Given the description of an element on the screen output the (x, y) to click on. 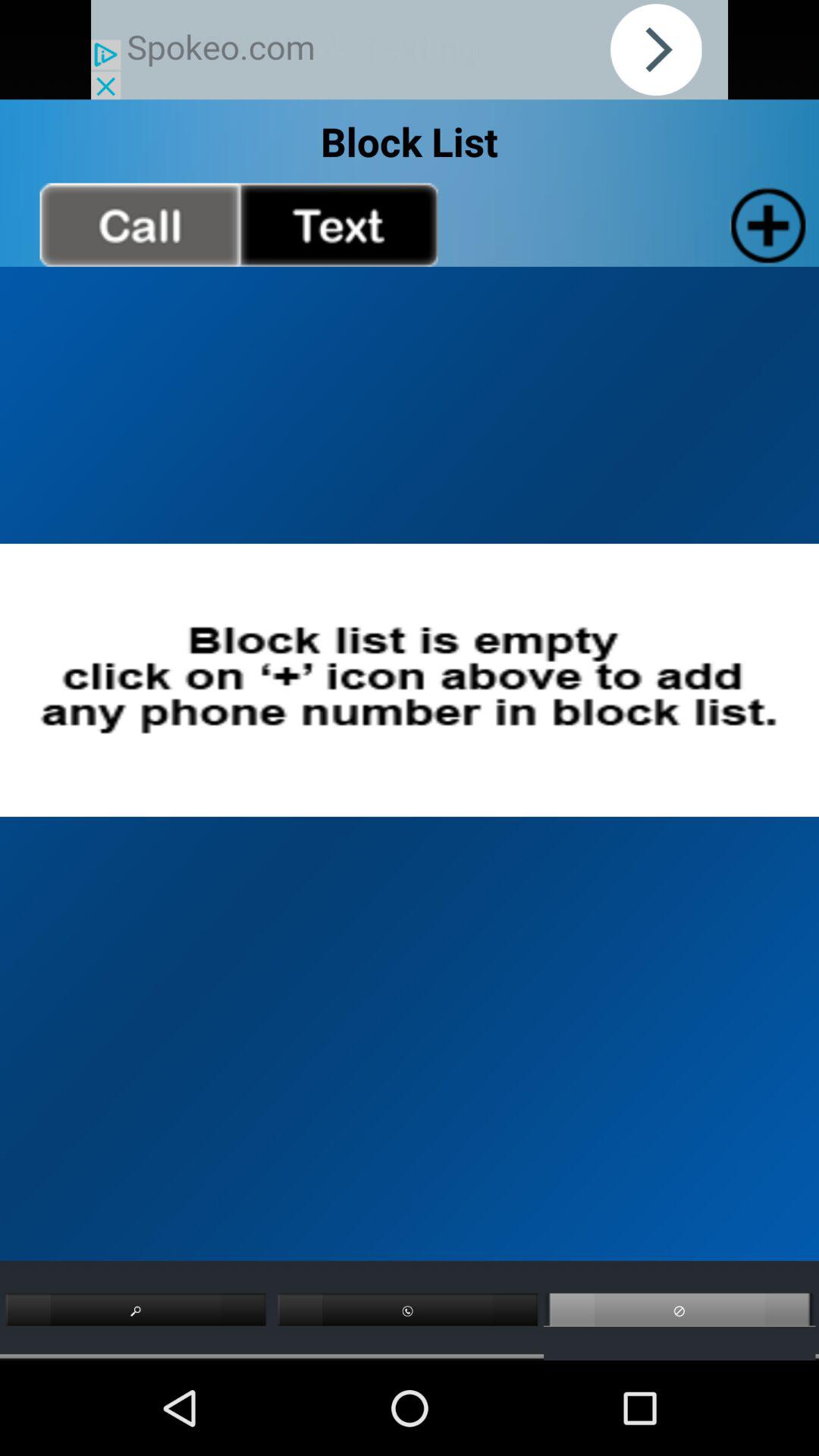
go to increase (765, 224)
